Given the description of an element on the screen output the (x, y) to click on. 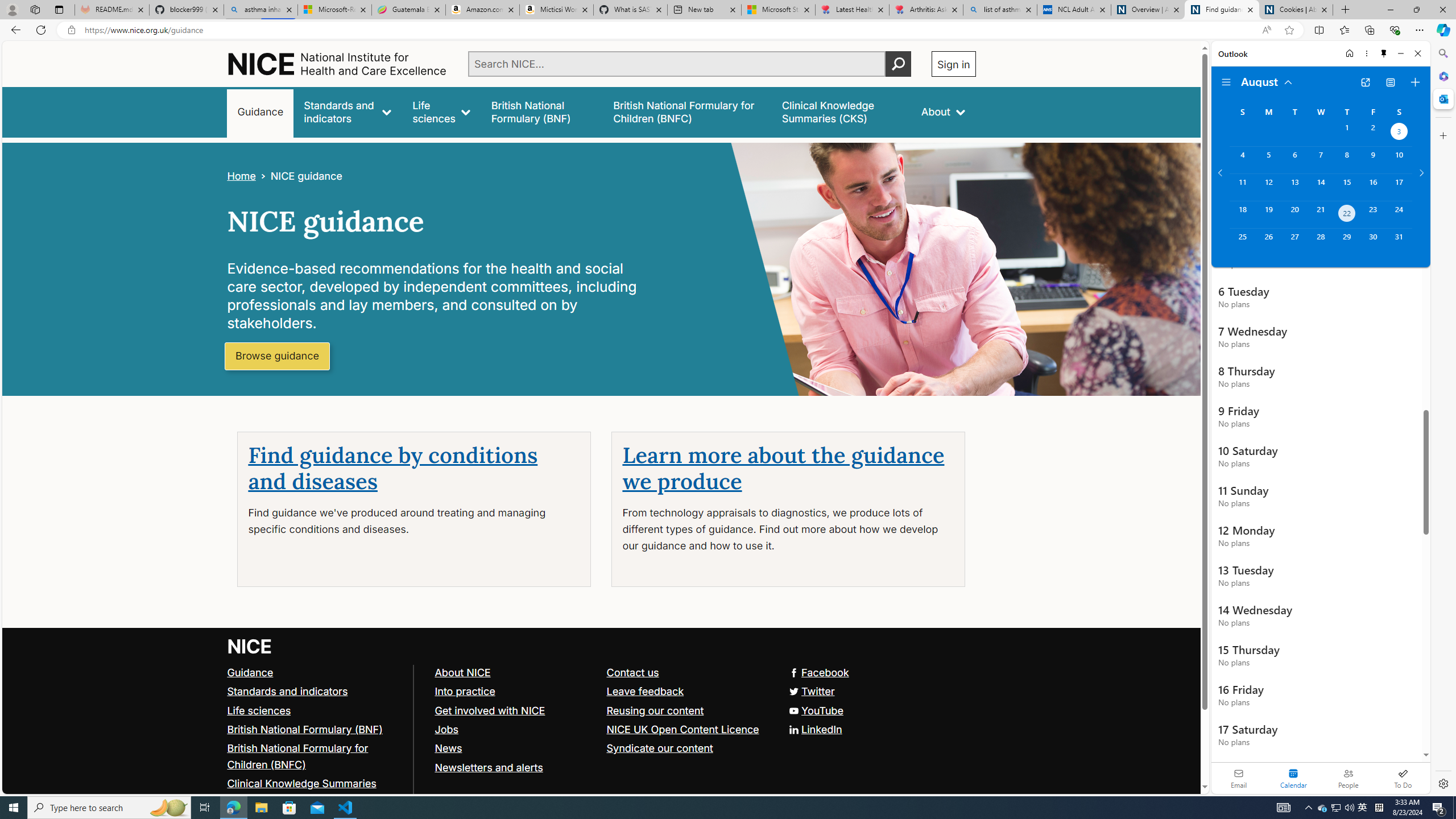
Sunday, August 18, 2024.  (1242, 214)
Friday, August 23, 2024.  (1372, 214)
Jobs (514, 729)
Sunday, August 4, 2024.  (1242, 159)
Saturday, August 31, 2024.  (1399, 241)
Find guidance by conditions and diseases (392, 468)
Read aloud this page (Ctrl+Shift+U) (1266, 29)
Saturday, August 24, 2024.  (1399, 214)
Thursday, August 22, 2024. Today.  (1346, 214)
Address and search bar (669, 29)
Minimize (1401, 53)
Close Customize pane (1442, 135)
